Given the description of an element on the screen output the (x, y) to click on. 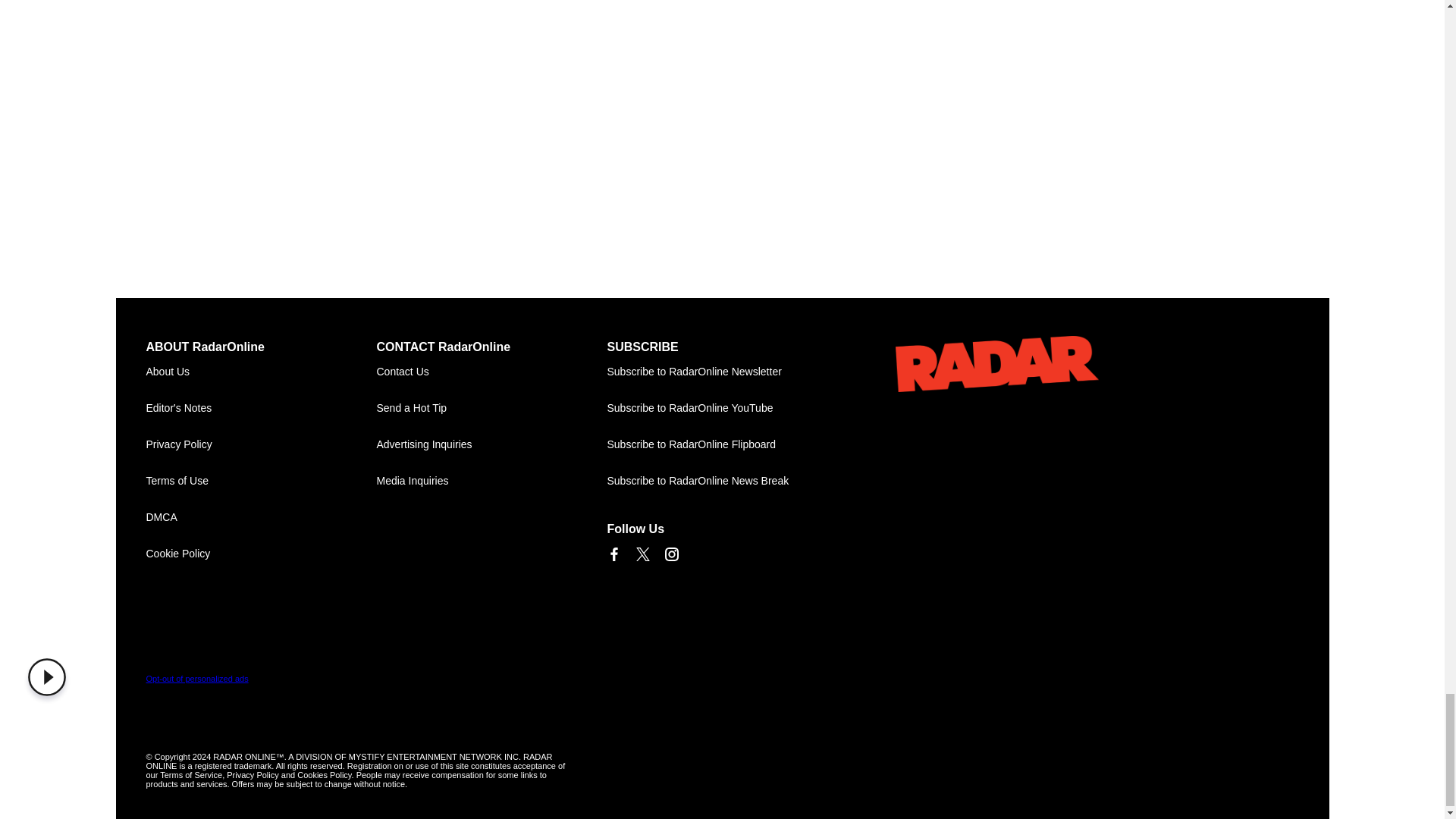
Terms of Use (260, 481)
DMCA (260, 517)
Link to X (641, 554)
Link to Instagram (670, 554)
Cookie Policy (260, 554)
Privacy Policy (260, 444)
Link to Facebook (613, 554)
Editor's Notes (260, 408)
About Us (260, 371)
